Given the description of an element on the screen output the (x, y) to click on. 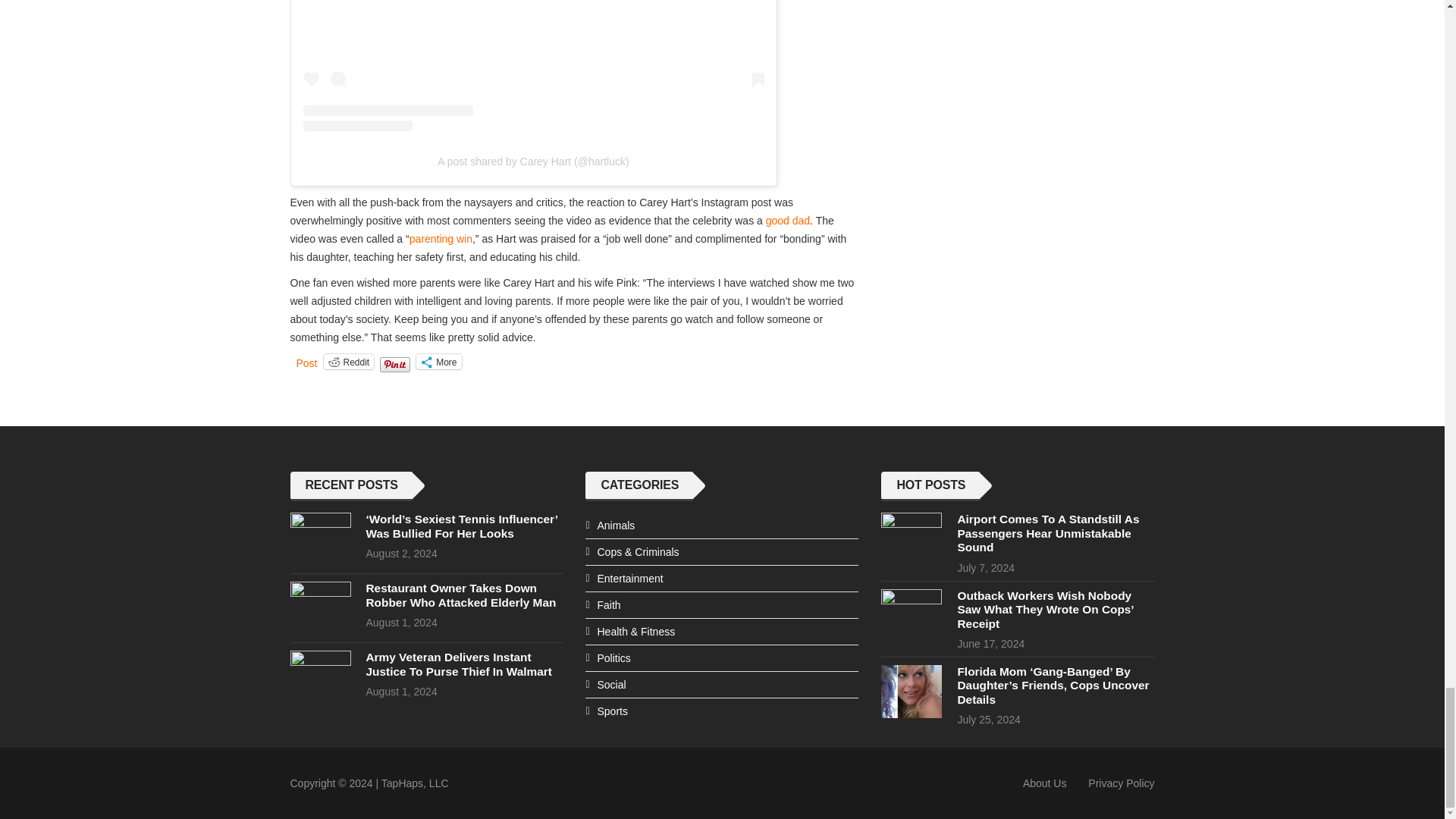
Click to share on Reddit (348, 361)
